Given the description of an element on the screen output the (x, y) to click on. 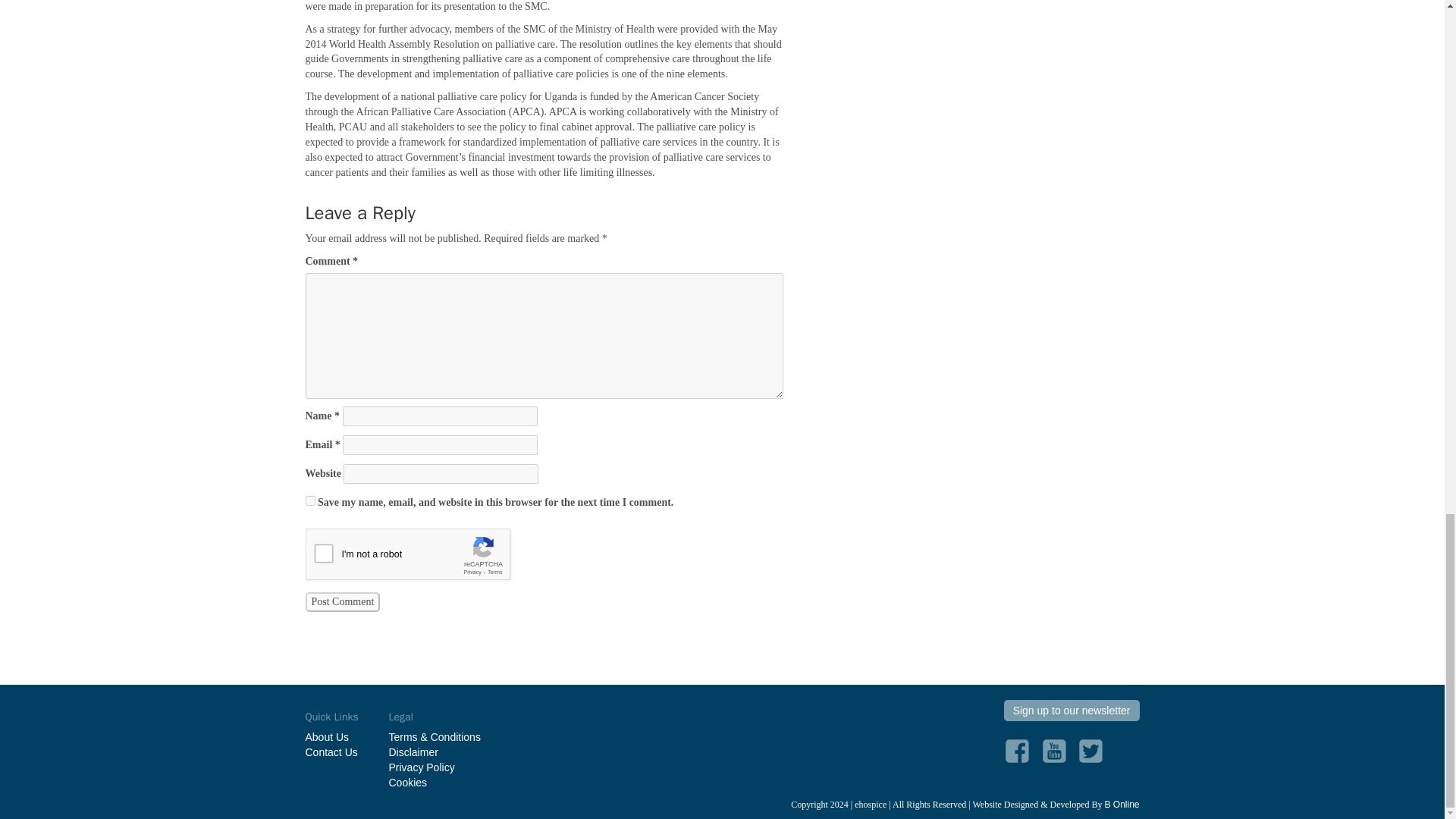
Post Comment (342, 601)
reCAPTCHA (419, 557)
yes (309, 501)
